Given the description of an element on the screen output the (x, y) to click on. 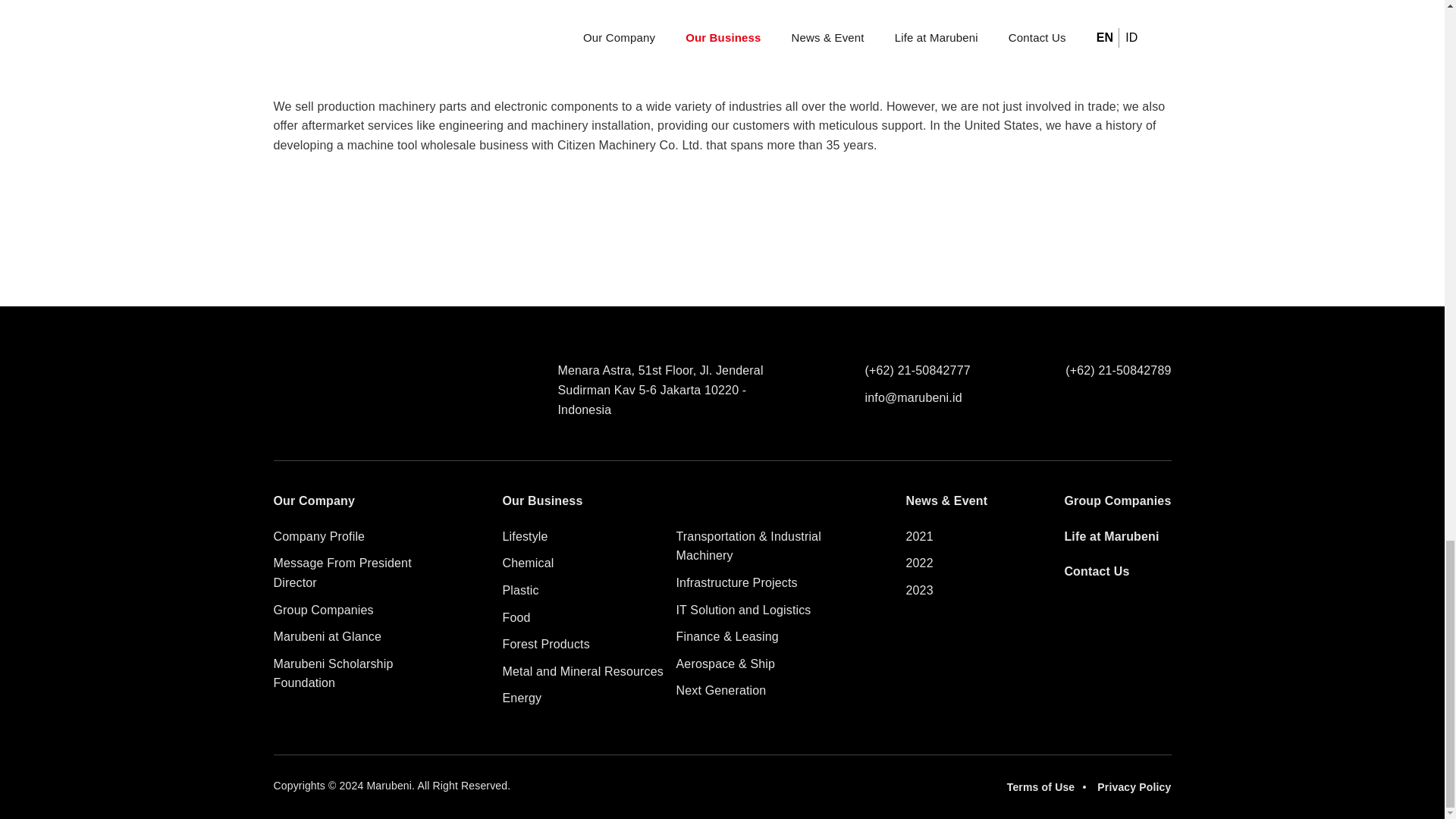
Our Company (314, 500)
